Given the description of an element on the screen output the (x, y) to click on. 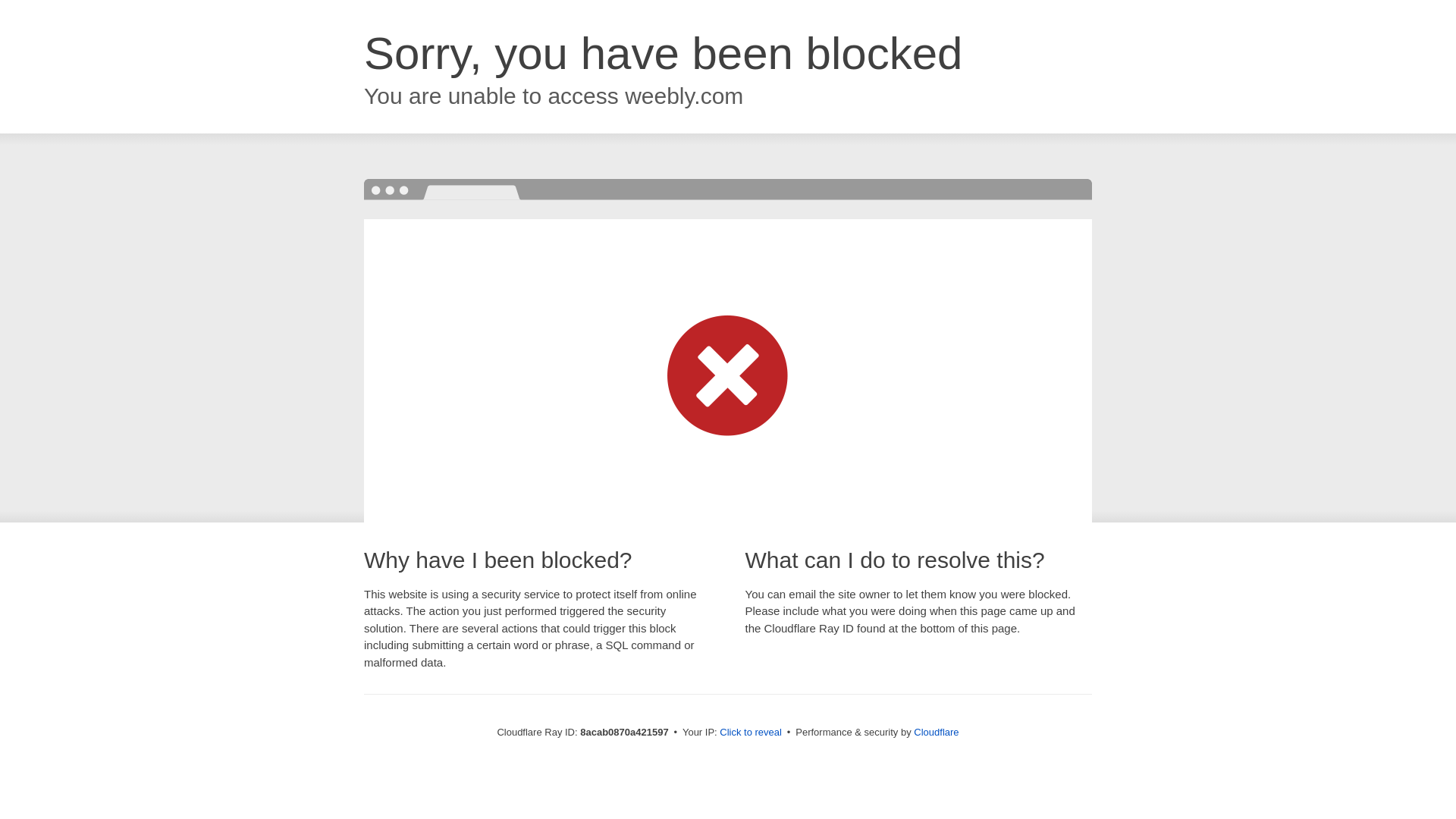
Click to reveal (750, 732)
Cloudflare (936, 731)
